Given the description of an element on the screen output the (x, y) to click on. 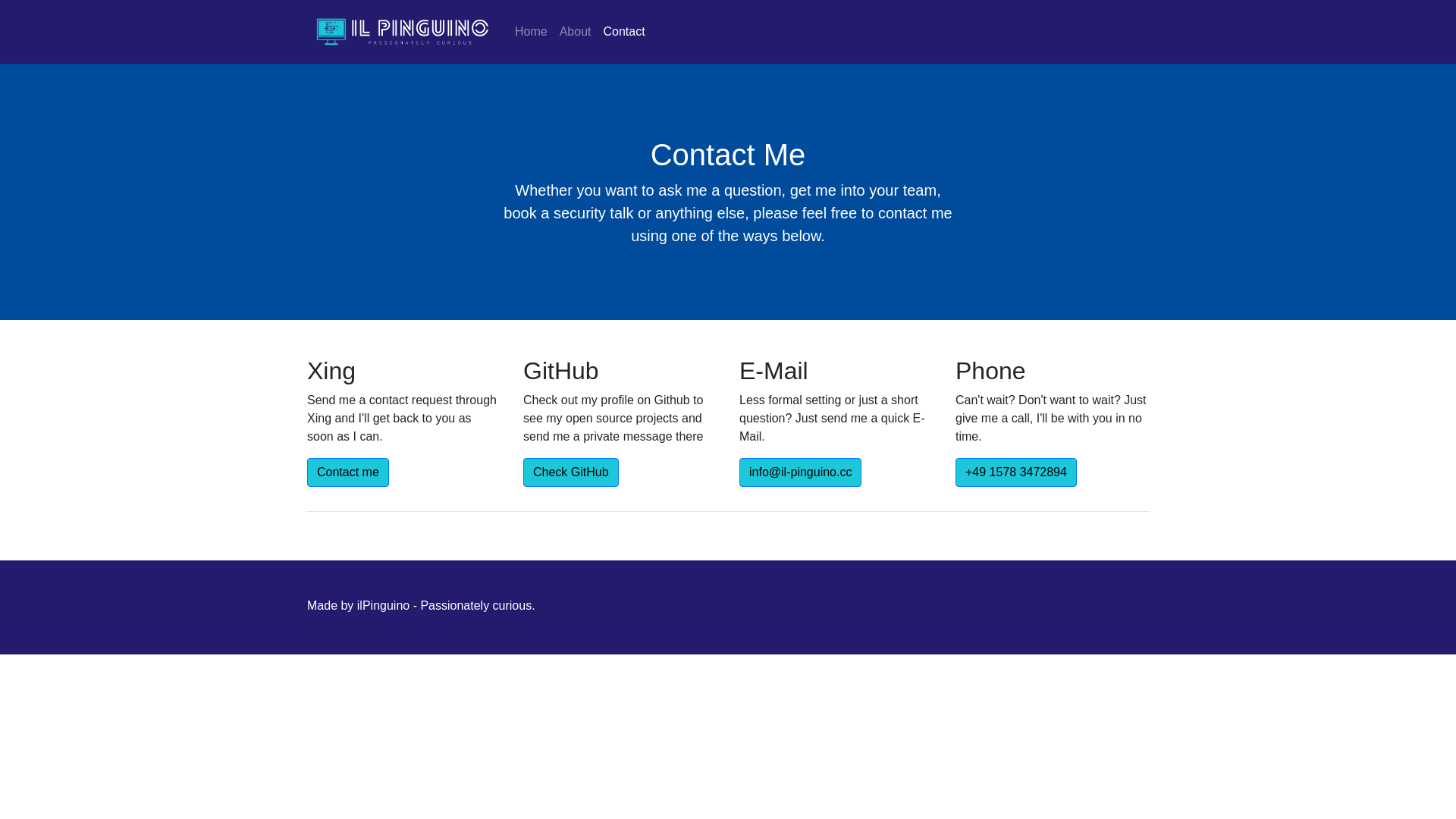
Home Element type: text (530, 31)
+49 1578 3472894 Element type: text (1015, 472)
Contact Element type: text (624, 31)
About Element type: text (575, 31)
Contact me Element type: text (348, 472)
Check GitHub Element type: text (570, 472)
info@il-pinguino.cc Element type: text (800, 472)
